Given the description of an element on the screen output the (x, y) to click on. 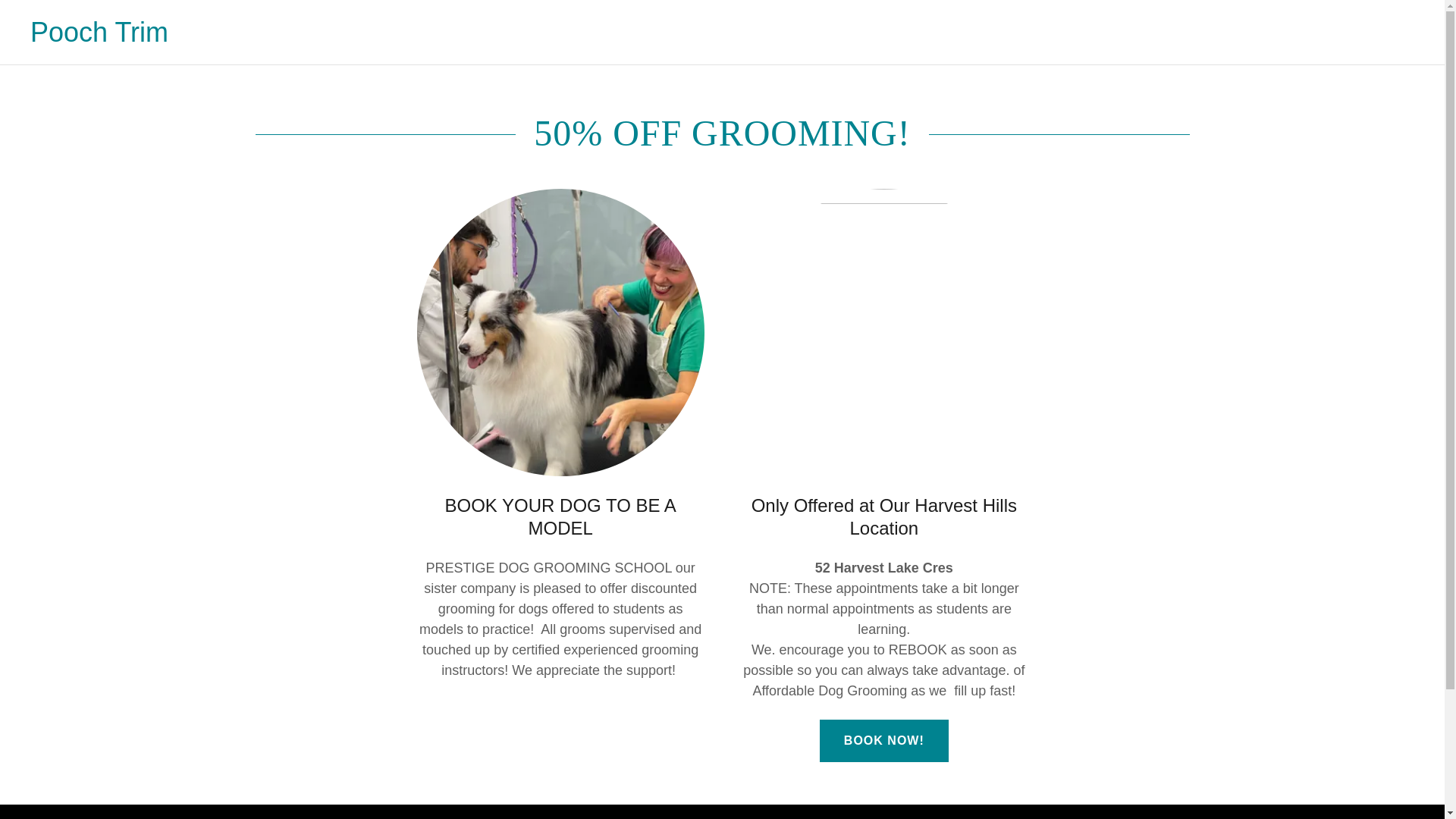
BOOK NOW! (884, 740)
Pooch Trim (99, 37)
Pooch Trim  (99, 37)
